Given the description of an element on the screen output the (x, y) to click on. 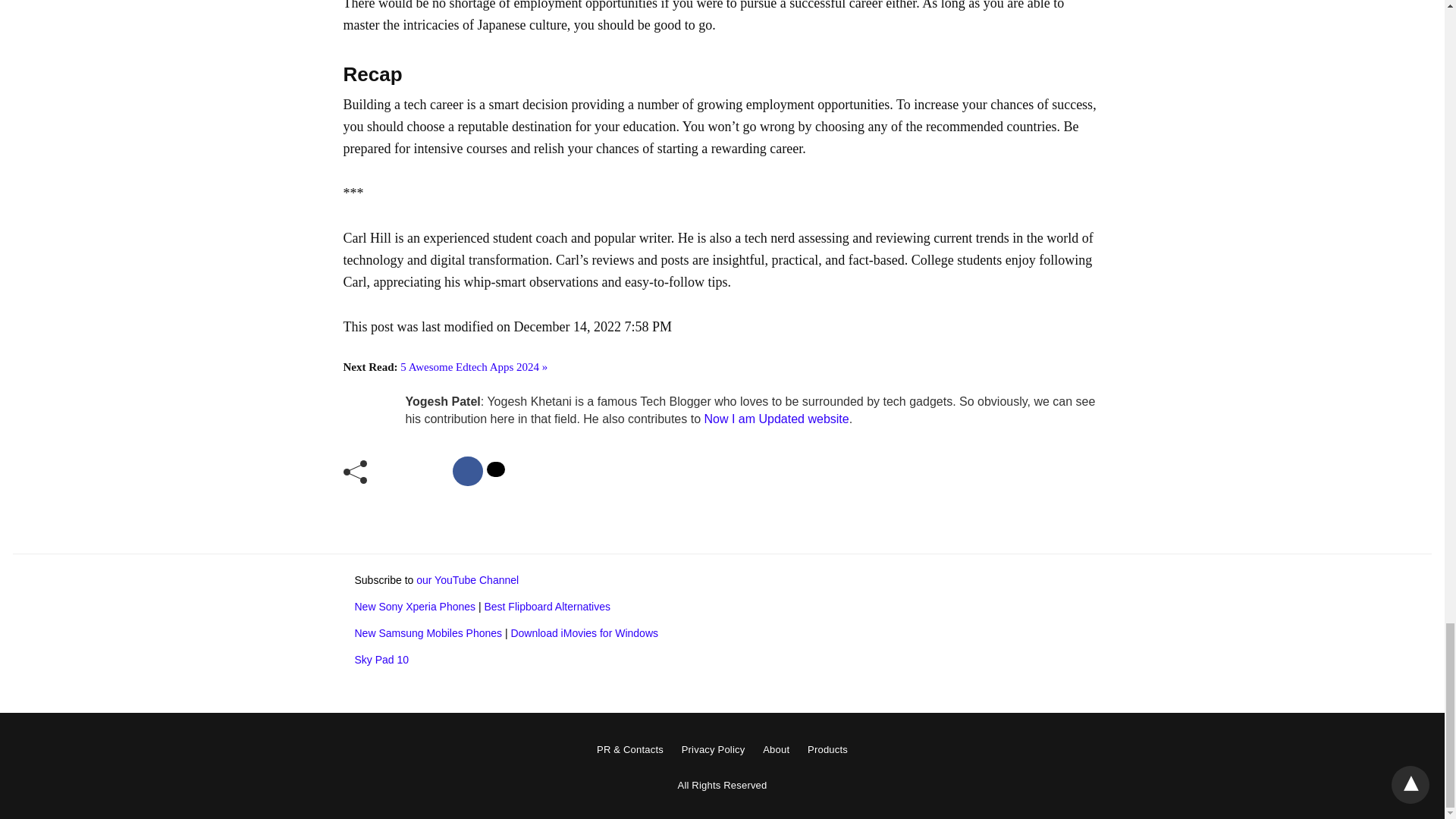
Sky Pad 10 (382, 659)
twitter share (495, 468)
About (775, 749)
New Samsung Mobiles Phones (428, 633)
New Sony Xperia Phones (415, 606)
Best Flipboard Alternatives (546, 606)
Privacy Policy (713, 749)
Products (827, 749)
our YouTube Channel (467, 580)
Now I am Updated website (775, 418)
